Given the description of an element on the screen output the (x, y) to click on. 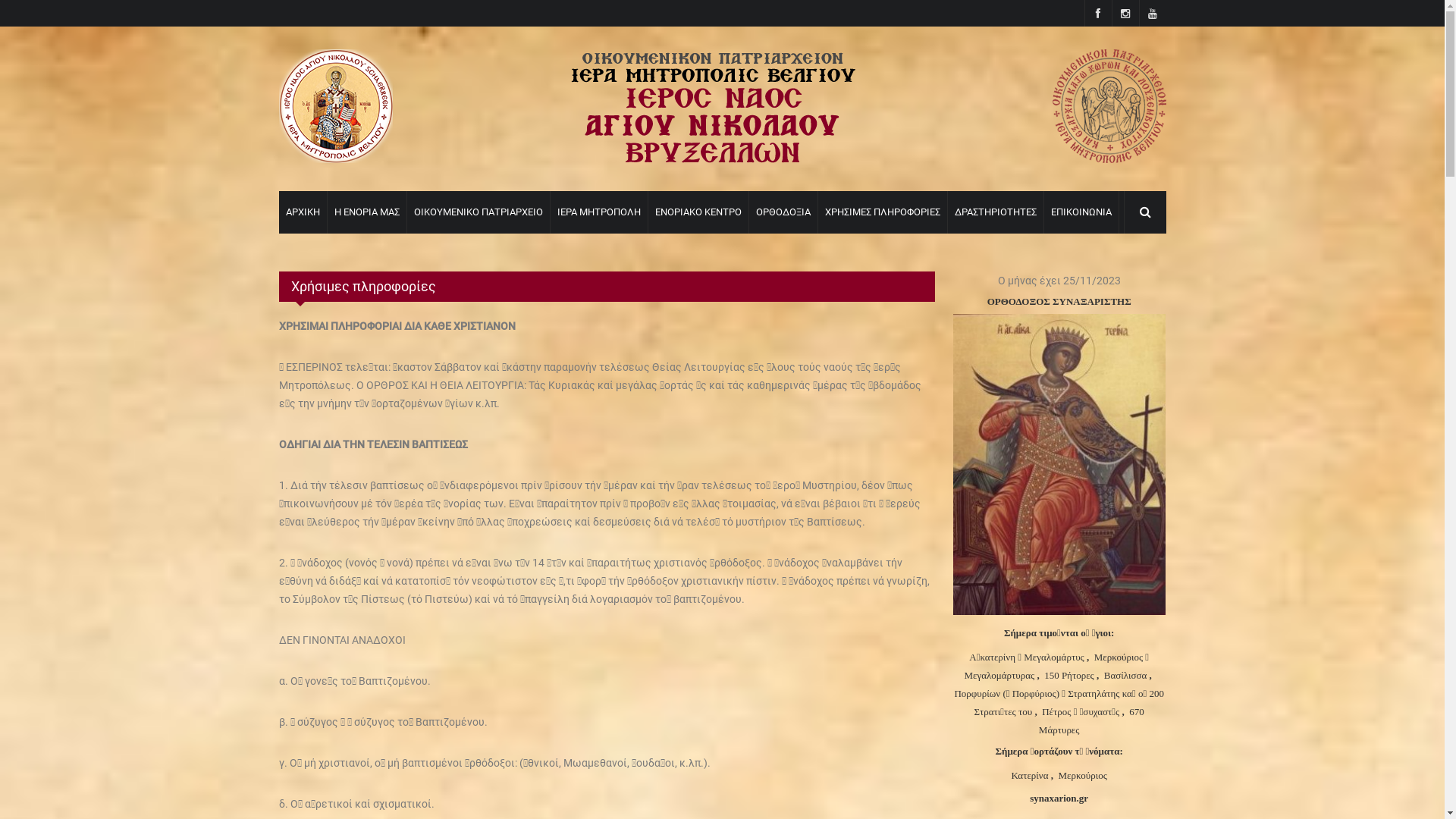
synaxarion.gr Element type: text (1058, 797)
